Given the description of an element on the screen output the (x, y) to click on. 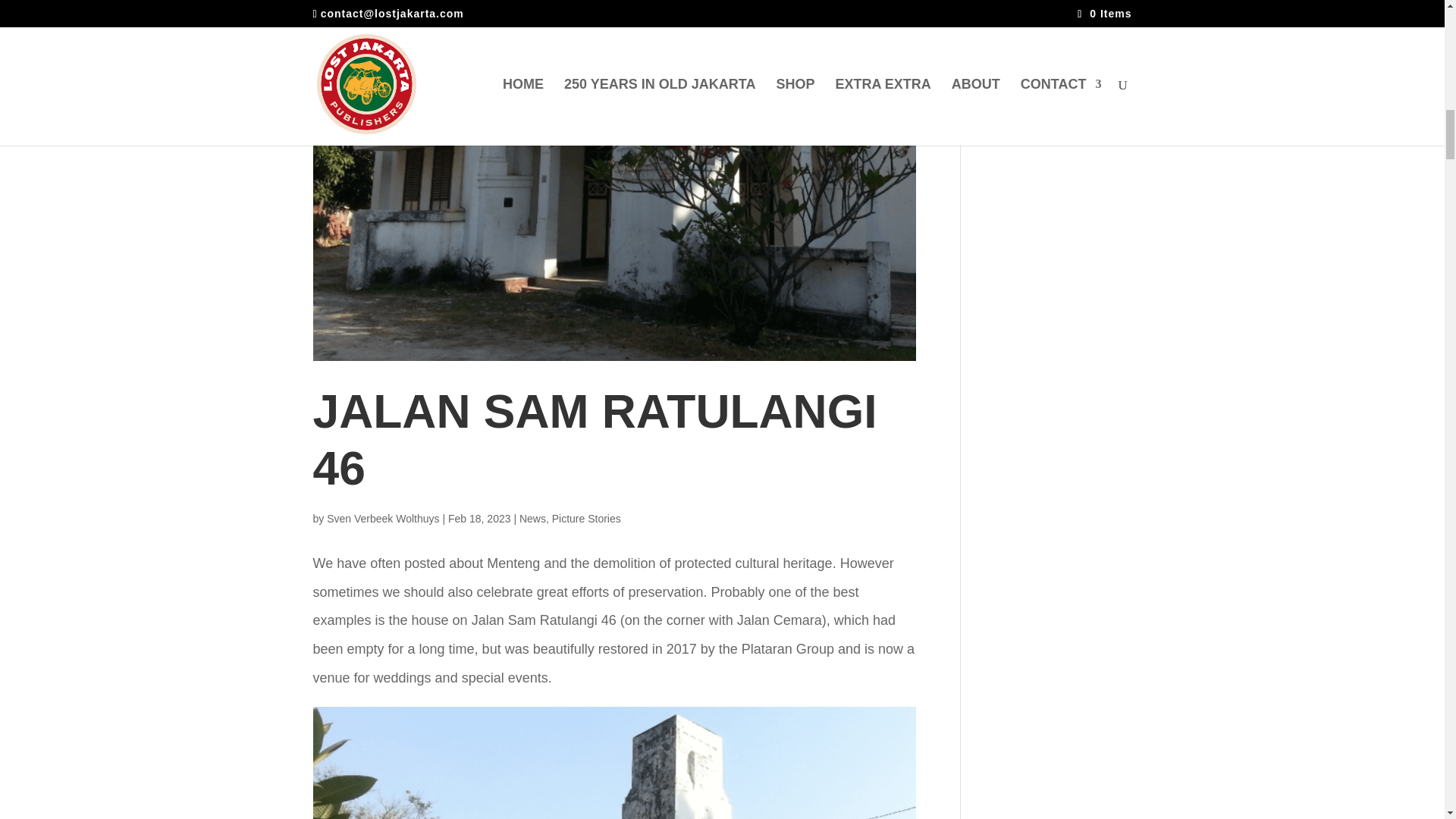
Posts by Sven Verbeek Wolthuys (382, 518)
JALAN SAM RATULANGI 46 (594, 439)
News (532, 518)
Picture Stories (586, 518)
Sven Verbeek Wolthuys (382, 518)
